Given the description of an element on the screen output the (x, y) to click on. 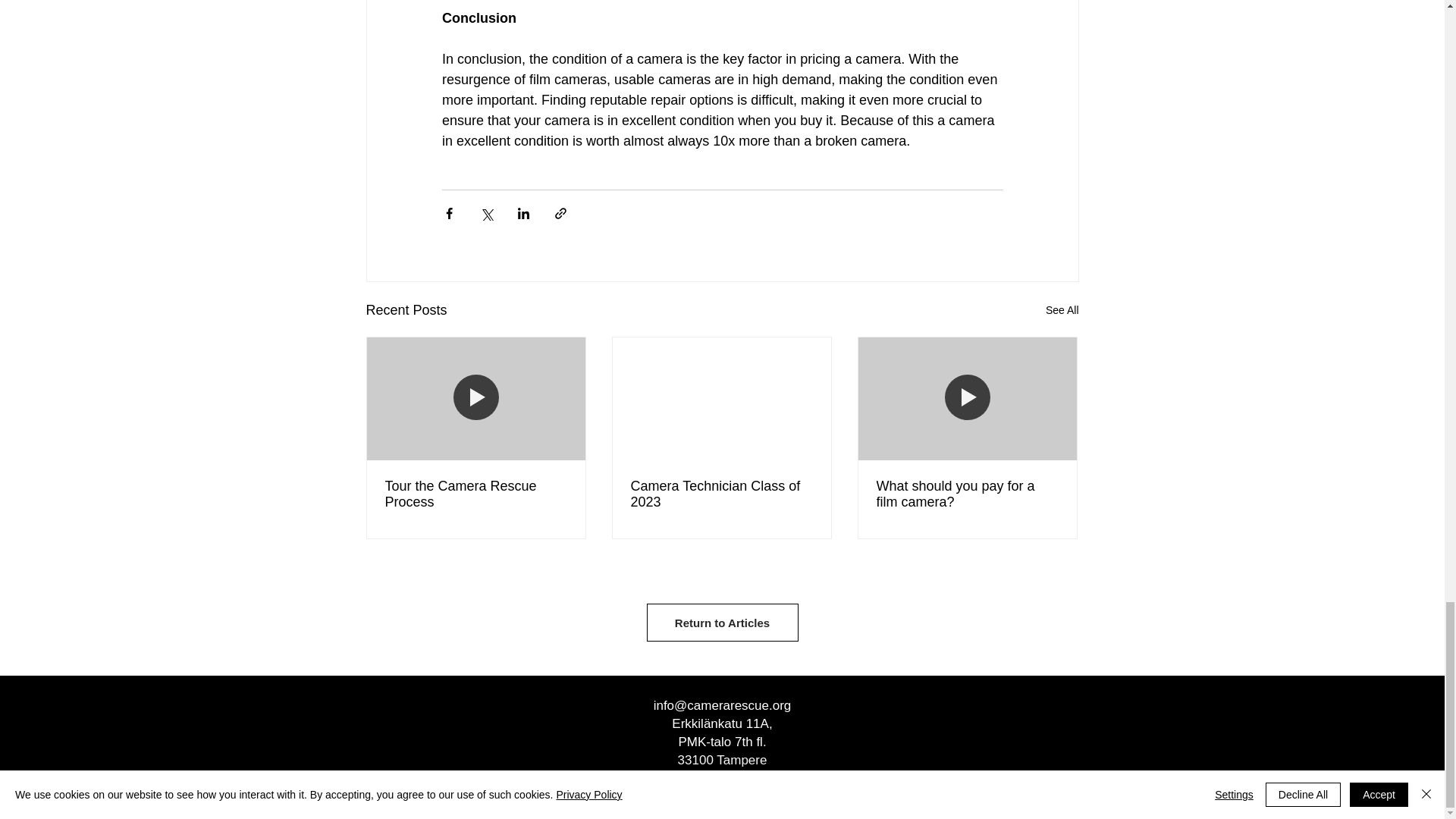
Tour the Camera Rescue Process (476, 494)
Return to Articles (721, 622)
See All (1061, 310)
What should you pay for a film camera? (967, 494)
Camera Technician Class of 2023 (721, 494)
